Given the description of an element on the screen output the (x, y) to click on. 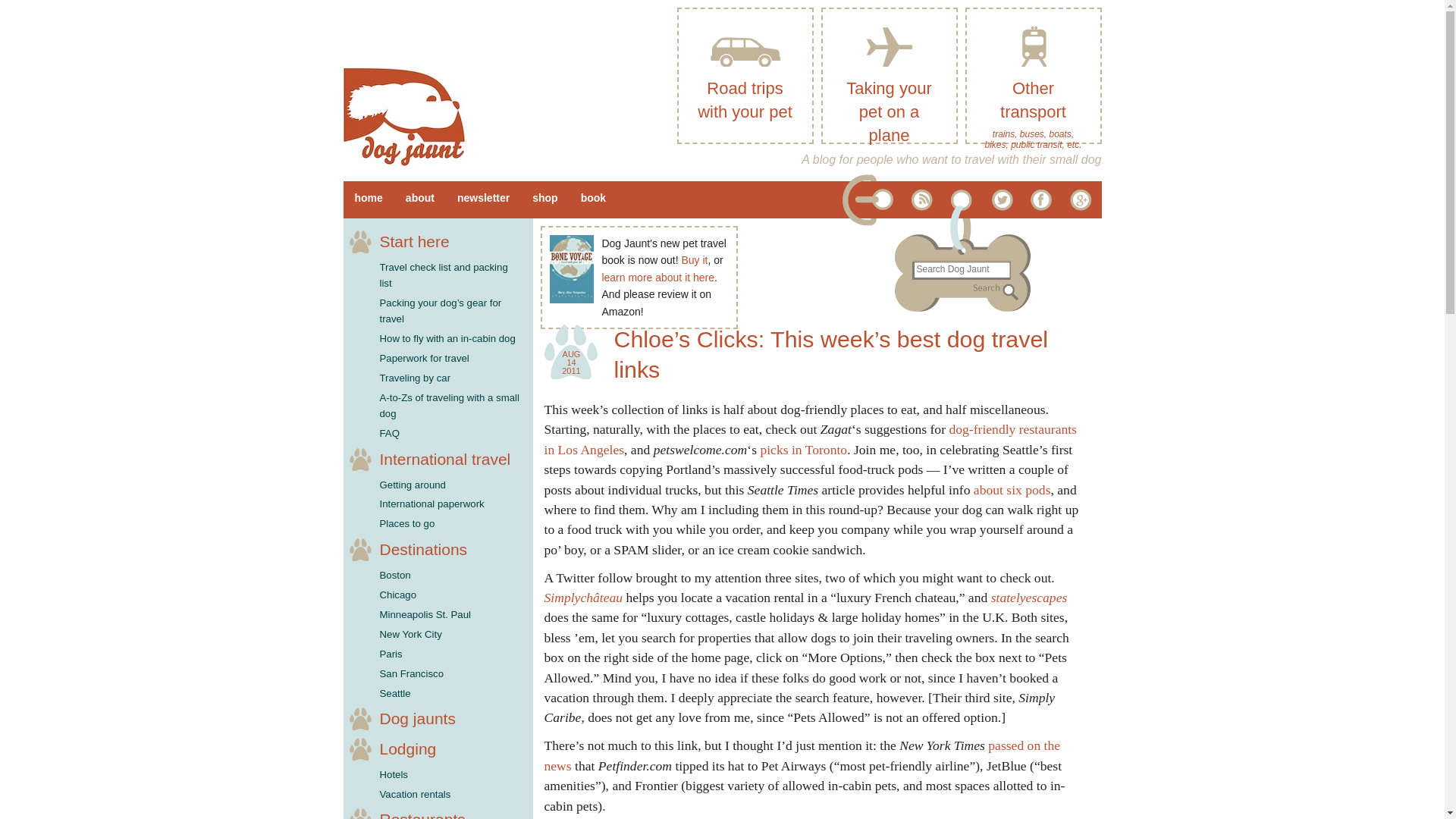
learn more about it here (657, 277)
about (419, 199)
home (367, 199)
Road trips with your pet (744, 75)
about six pods (1012, 489)
newsletter (483, 199)
shop (545, 199)
Buy it (694, 259)
picks in Toronto (803, 449)
